Given the description of an element on the screen output the (x, y) to click on. 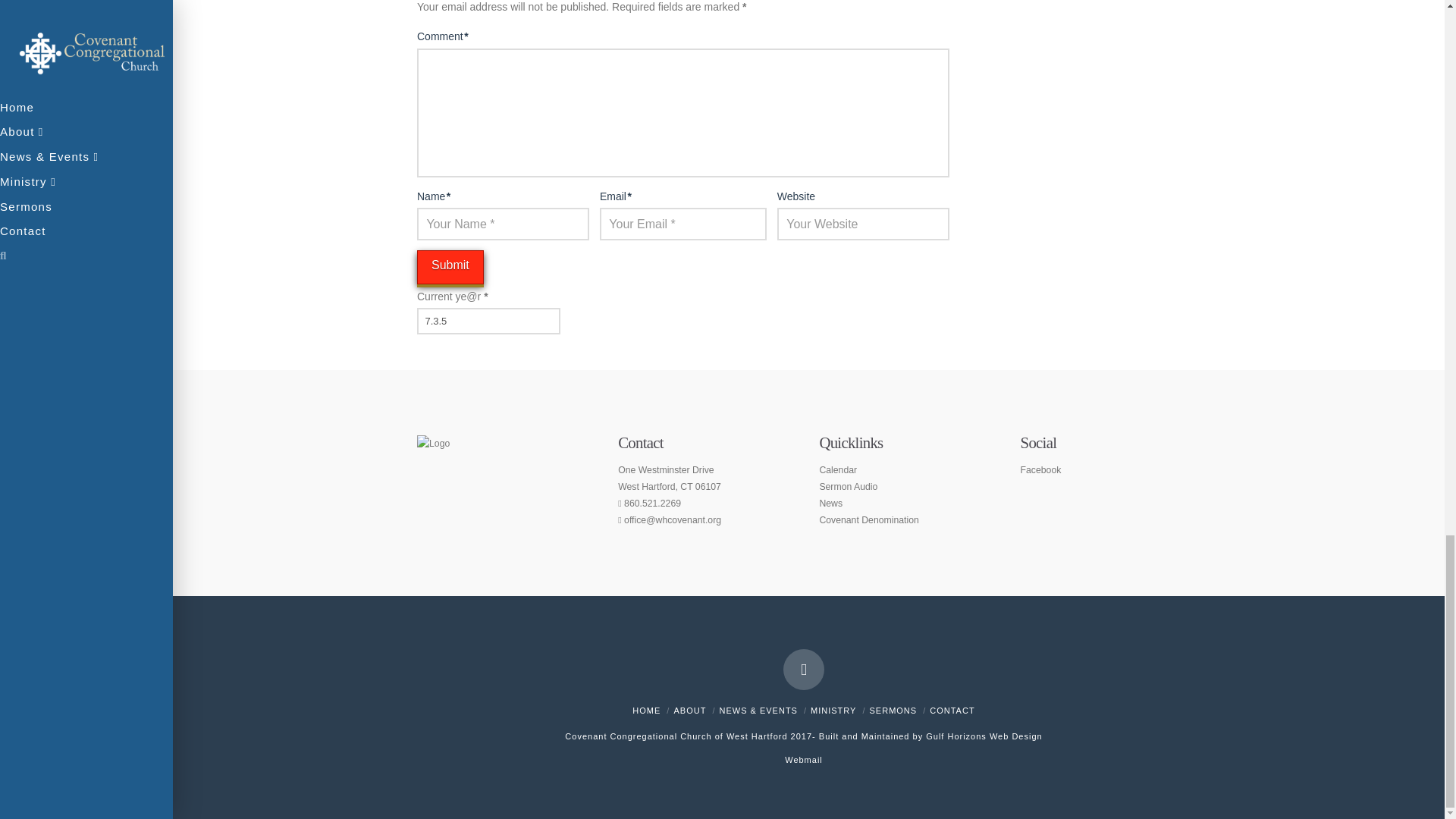
Home (646, 709)
Submit (449, 267)
Facebook (803, 669)
Submit (449, 267)
7.3.5 (488, 320)
